Given the description of an element on the screen output the (x, y) to click on. 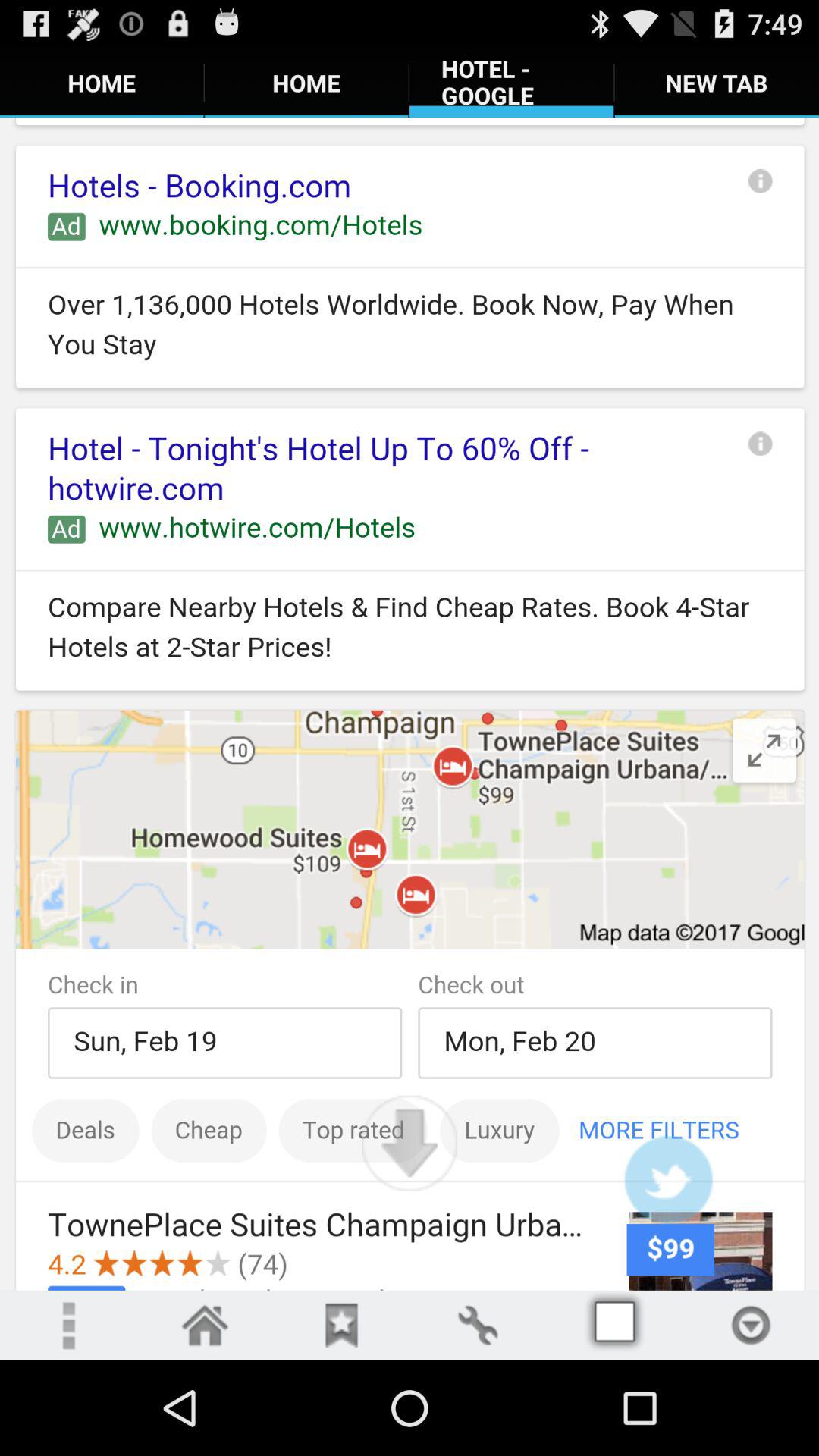
bookmarks (341, 1325)
